Given the description of an element on the screen output the (x, y) to click on. 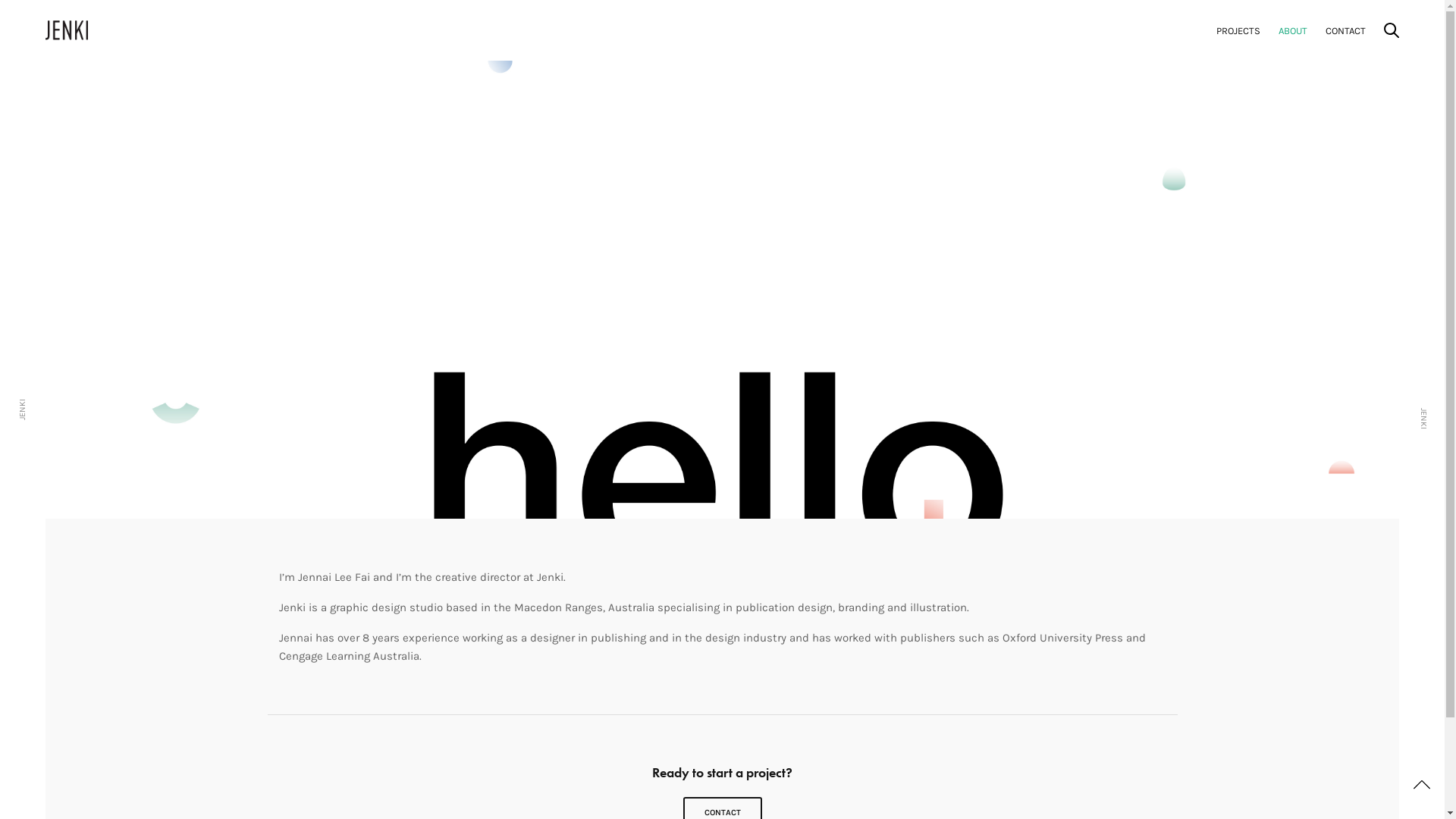
PROJECTS Element type: text (1238, 30)
ABOUT Element type: text (1292, 30)
CONTACT Element type: text (1345, 30)
